Given the description of an element on the screen output the (x, y) to click on. 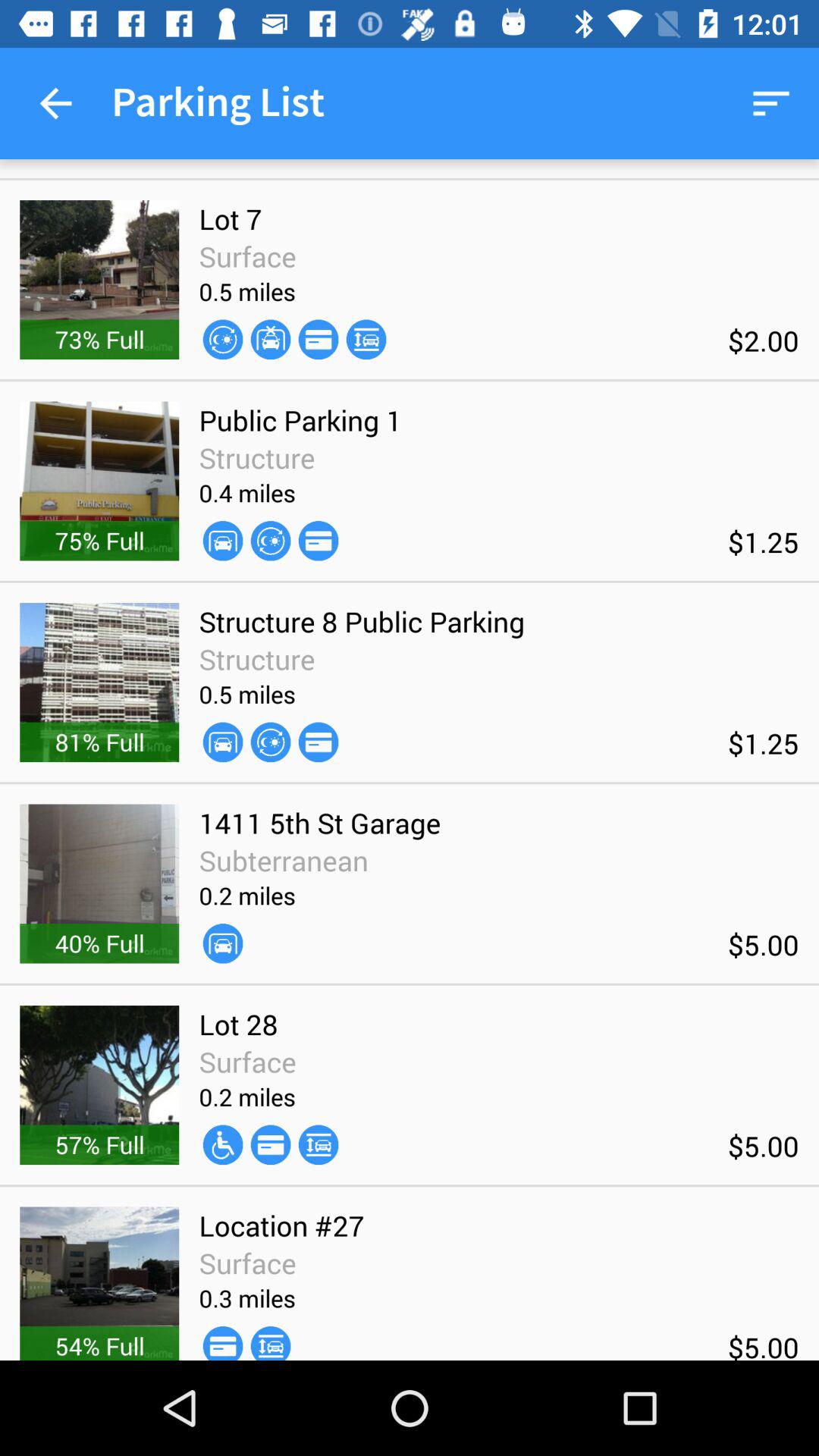
launch icon above 0.2 miles (283, 860)
